Given the description of an element on the screen output the (x, y) to click on. 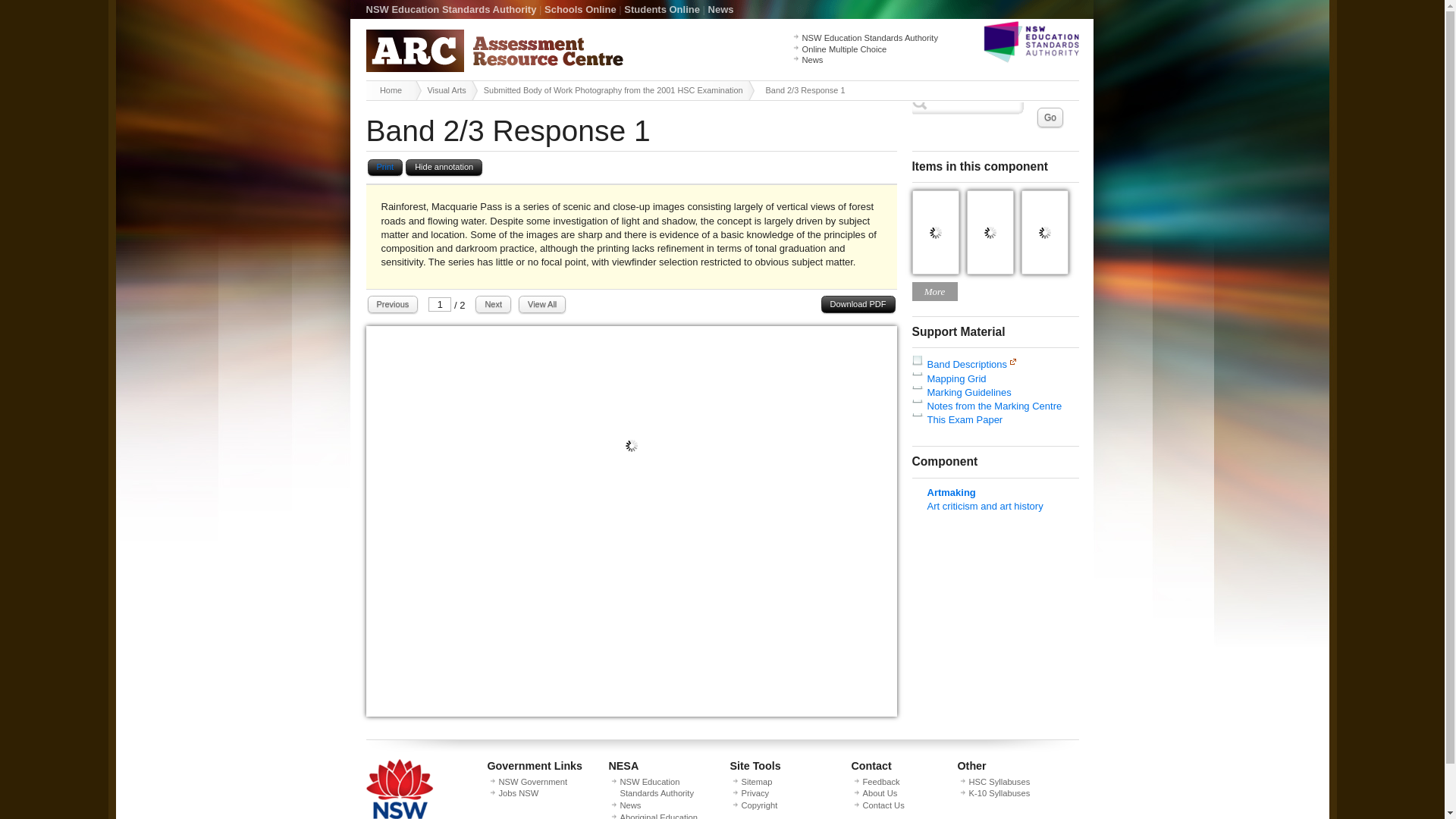
News (813, 59)
Hide annotation (443, 167)
Mapping Grid (955, 378)
Download PDF (858, 303)
1 (439, 304)
View All (542, 303)
Print (384, 167)
Band Descriptions (966, 364)
NSW Education Standards Authority (869, 37)
News (720, 9)
Marking Guidelines (968, 392)
Go (1050, 117)
Page 1 (630, 713)
NSW Education Standards Authority (450, 9)
